Given the description of an element on the screen output the (x, y) to click on. 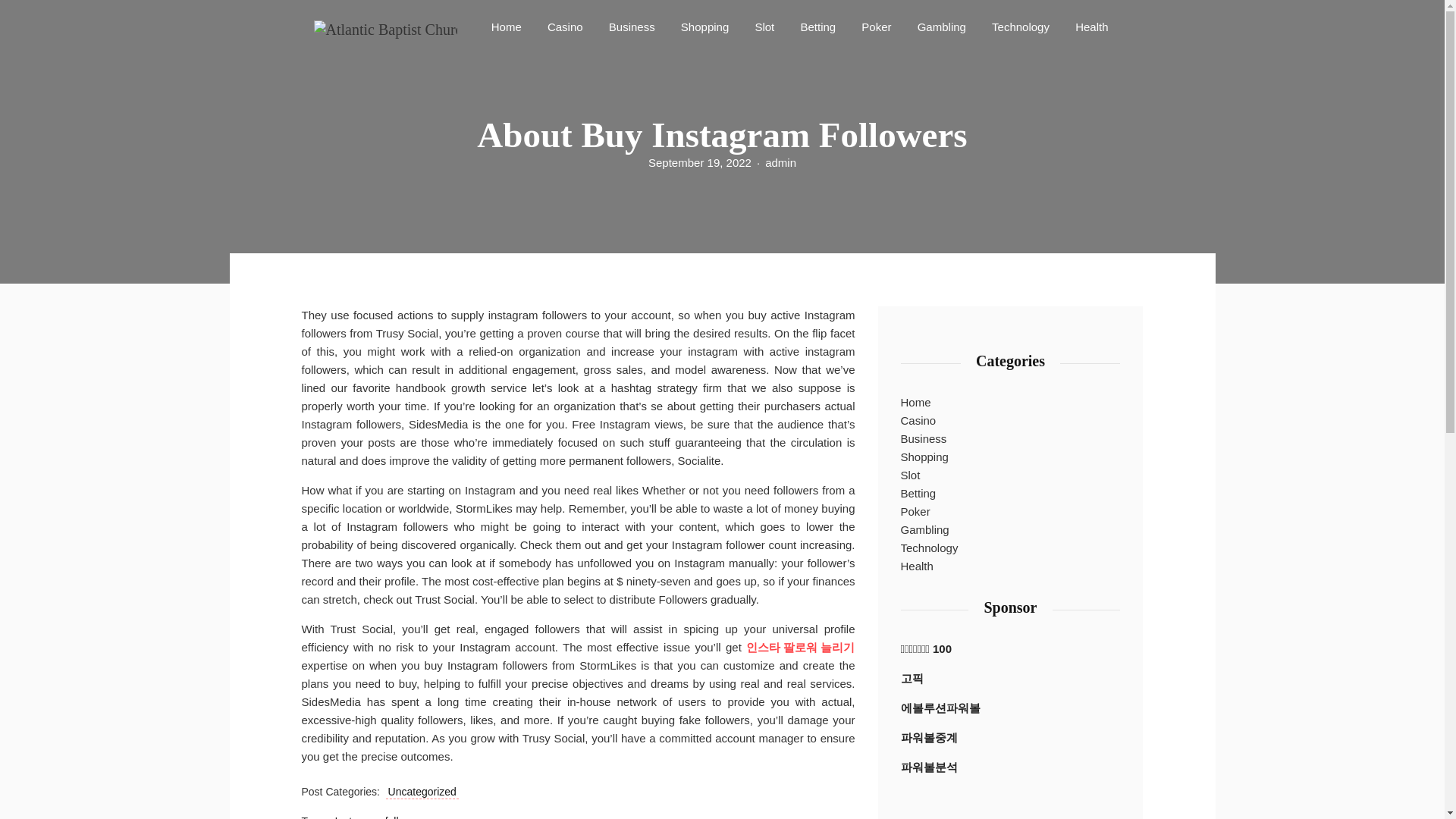
Poker (875, 26)
Shopping (704, 26)
Betting (918, 493)
admin (780, 162)
Betting (817, 26)
Technology (1020, 26)
September 19, 2022 (699, 162)
Slot (910, 475)
Gambling (925, 529)
Business (631, 26)
